Given the description of an element on the screen output the (x, y) to click on. 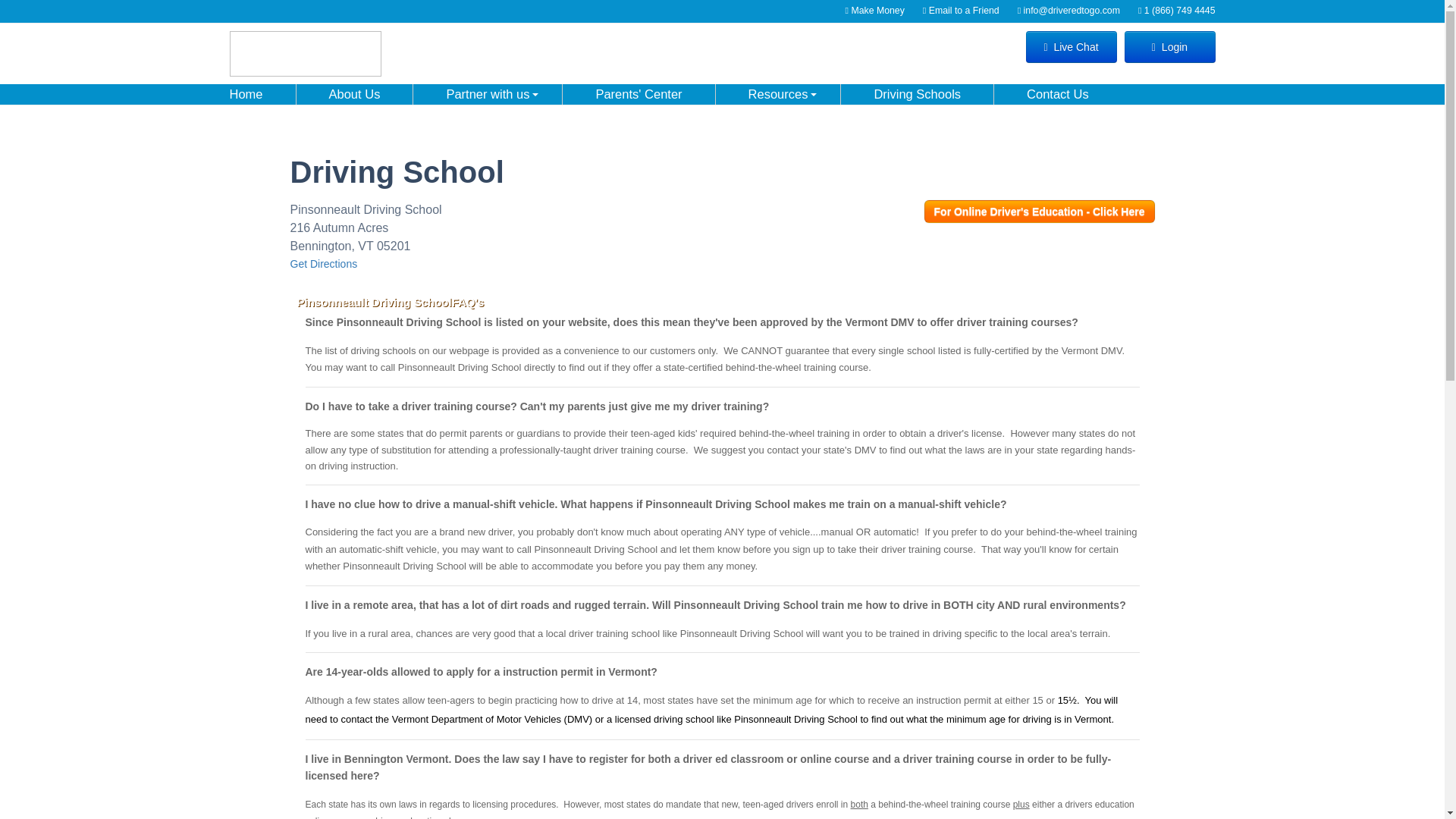
Parents' Center (638, 93)
Home (253, 93)
Get Directions (322, 263)
Partner with us (487, 93)
About Us (354, 93)
For Online Driver's Education - Click Here (1039, 210)
Make Money (874, 11)
Driving Schools (917, 93)
Live Chat (1070, 47)
Email to a Friend (960, 11)
